Given the description of an element on the screen output the (x, y) to click on. 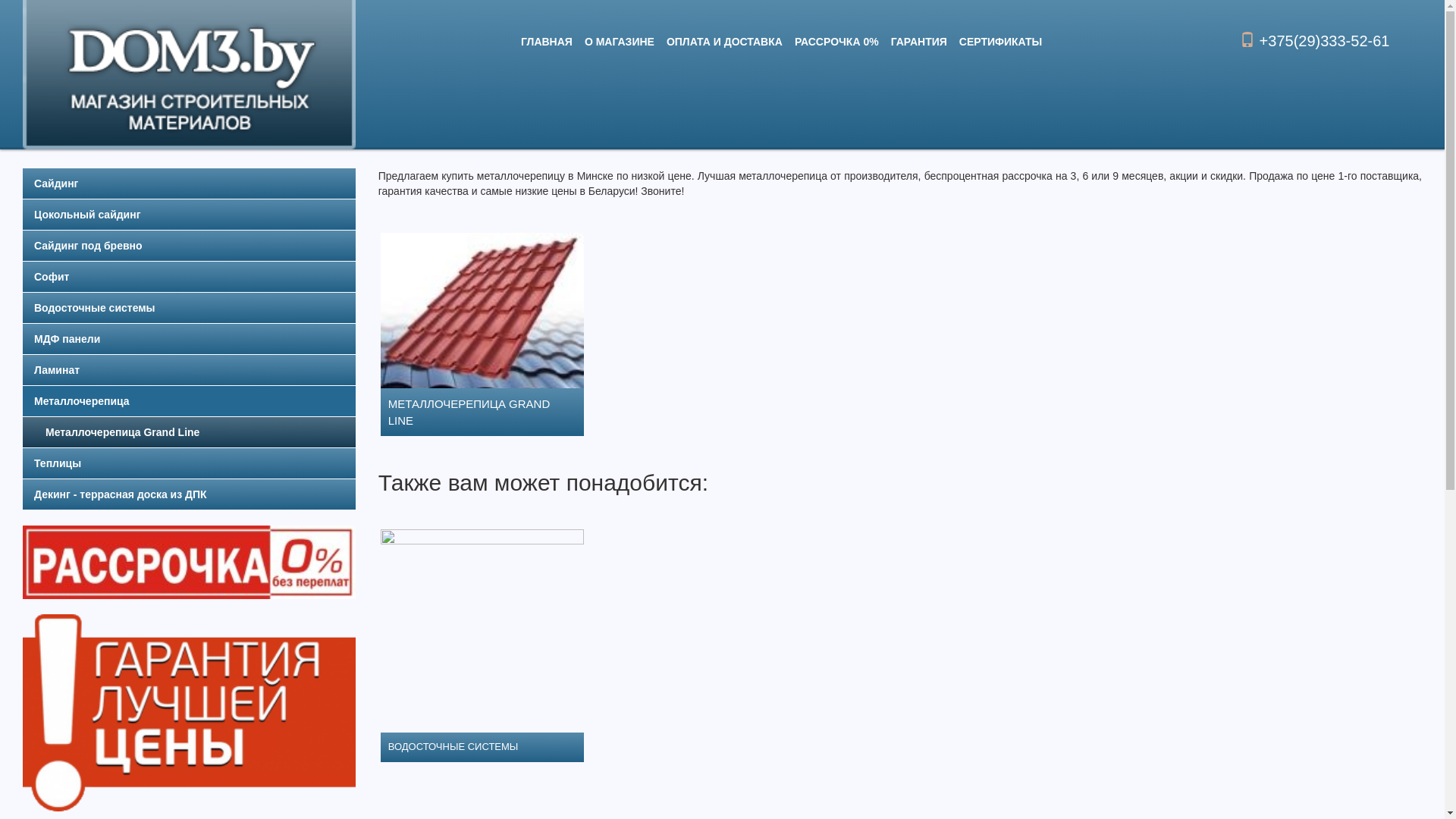
+375(29)333-52-61 Element type: text (1314, 40)
